Given the description of an element on the screen output the (x, y) to click on. 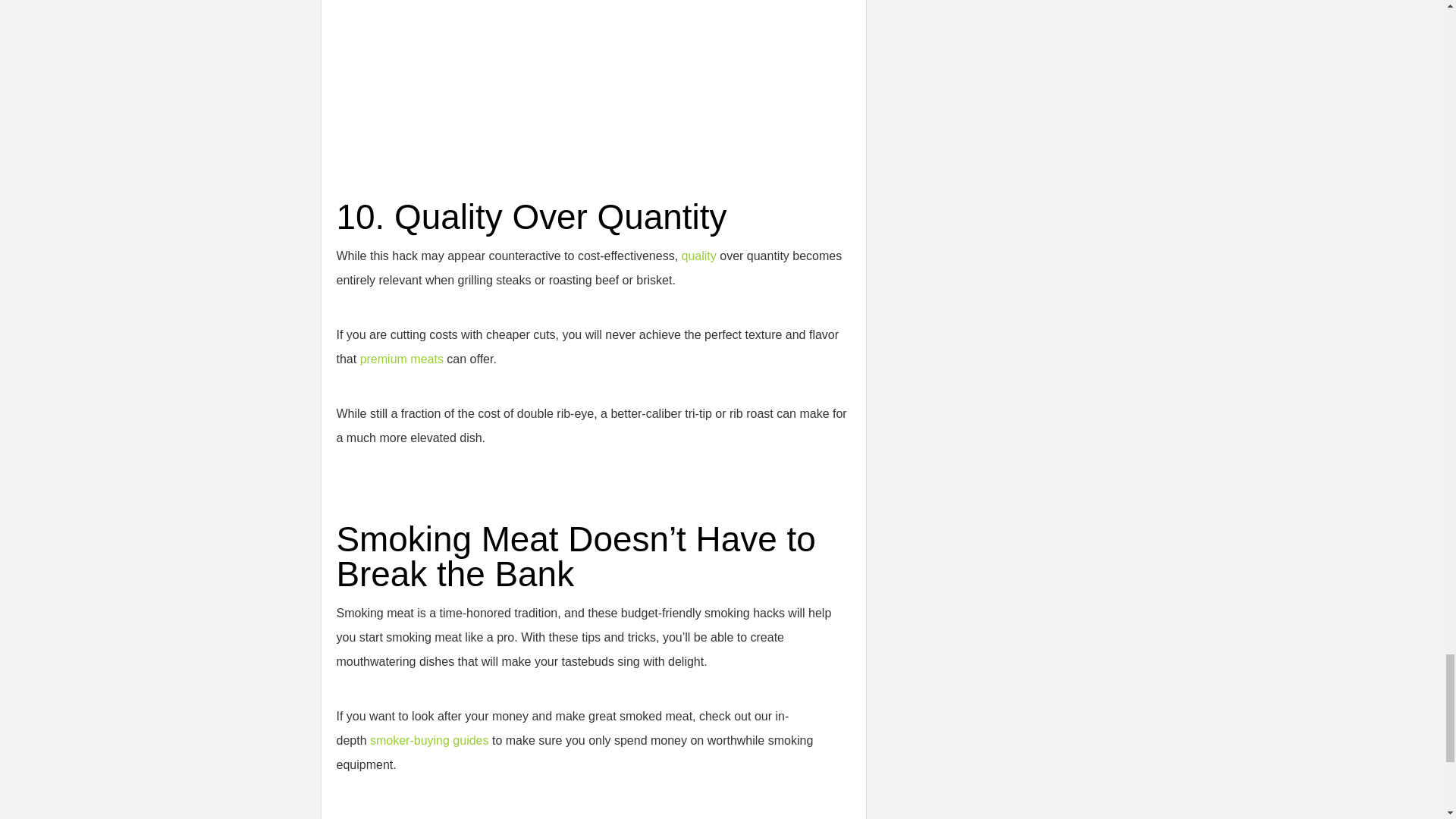
premium meats (401, 358)
quality (700, 255)
Tip: Easiest way to make a foil drip tray (526, 62)
smoker-buying guides (429, 739)
